Given the description of an element on the screen output the (x, y) to click on. 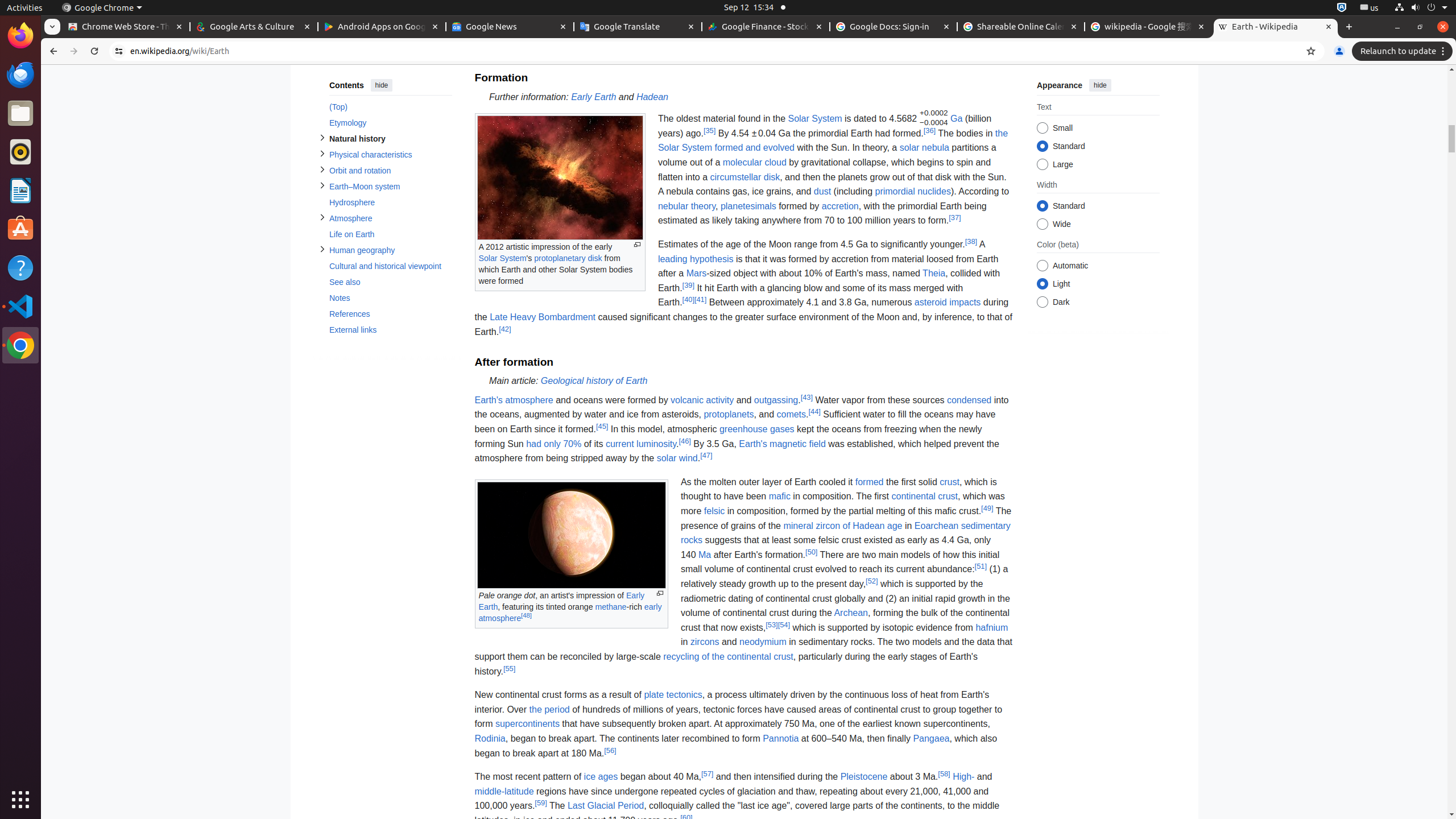
To get missing image descriptions, open the context menu. Element type: link (559, 177)
accretion Element type: link (839, 205)
planetesimals Element type: link (748, 205)
current luminosity Element type: link (640, 443)
[37] Element type: link (954, 217)
